Given the description of an element on the screen output the (x, y) to click on. 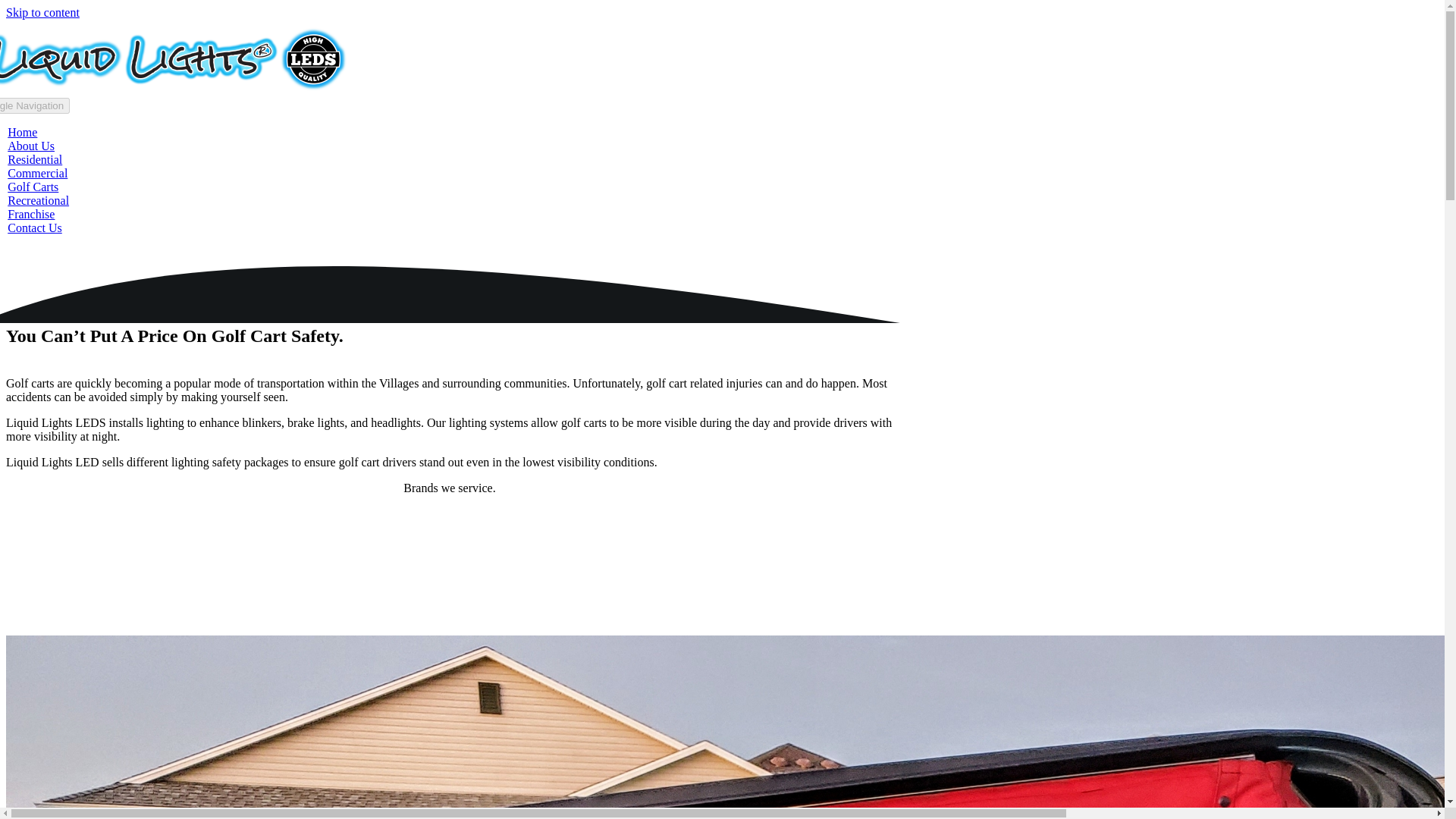
Residential (34, 159)
Golf Carts (32, 186)
Commercial (36, 173)
Toggle Navigation (34, 105)
Home (22, 132)
Recreational (37, 200)
About Us (31, 145)
Contact Us (34, 227)
Skip to content (42, 11)
Franchise (31, 214)
